Given the description of an element on the screen output the (x, y) to click on. 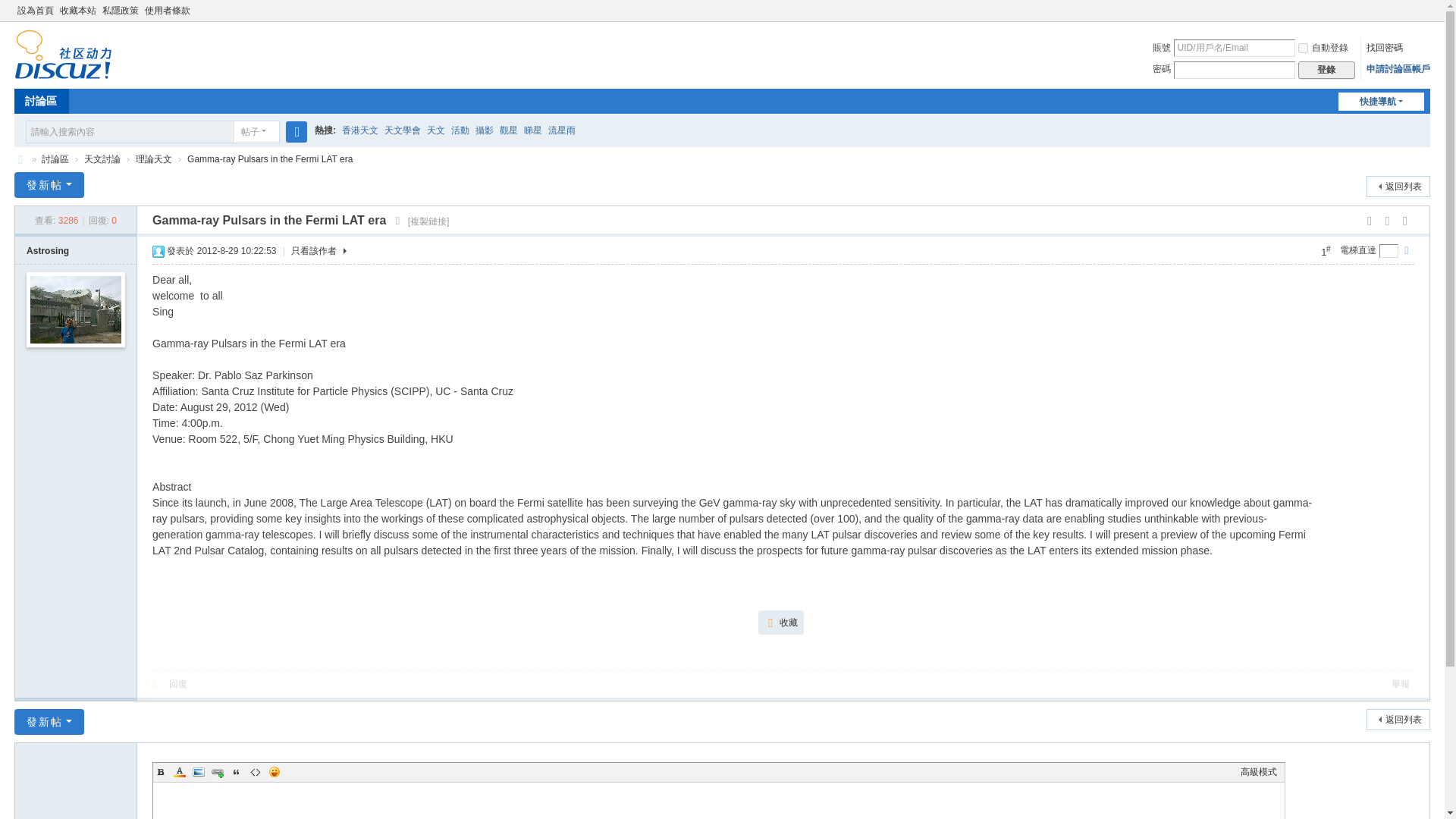
Astrosing (47, 250)
BBS (40, 100)
2592000 (1302, 48)
Gamma-ray Pulsars in the Fermi LAT era (269, 159)
true (296, 131)
